Given the description of an element on the screen output the (x, y) to click on. 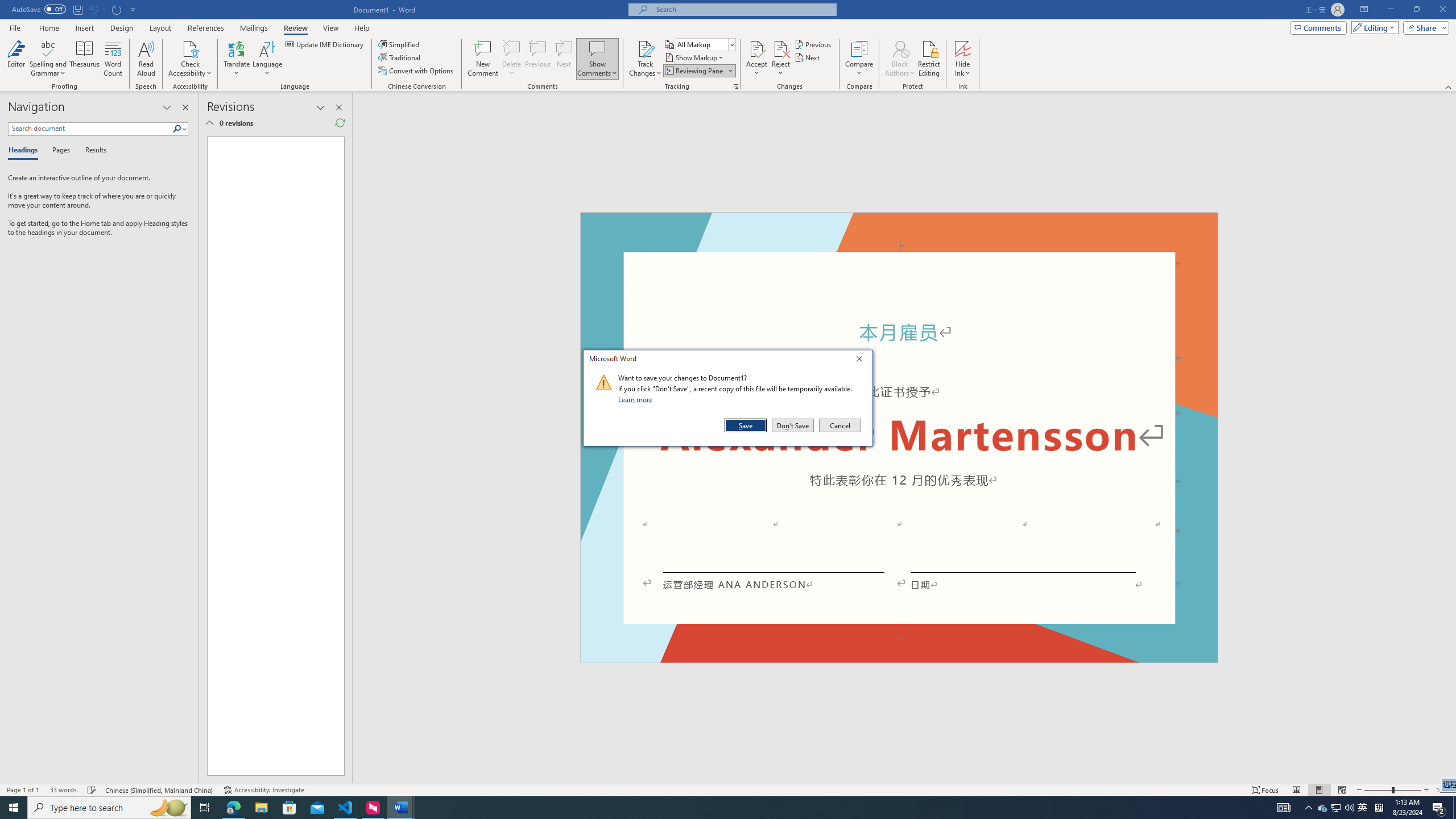
Next (808, 56)
Show Comments (597, 58)
Track Changes (644, 58)
